Given the description of an element on the screen output the (x, y) to click on. 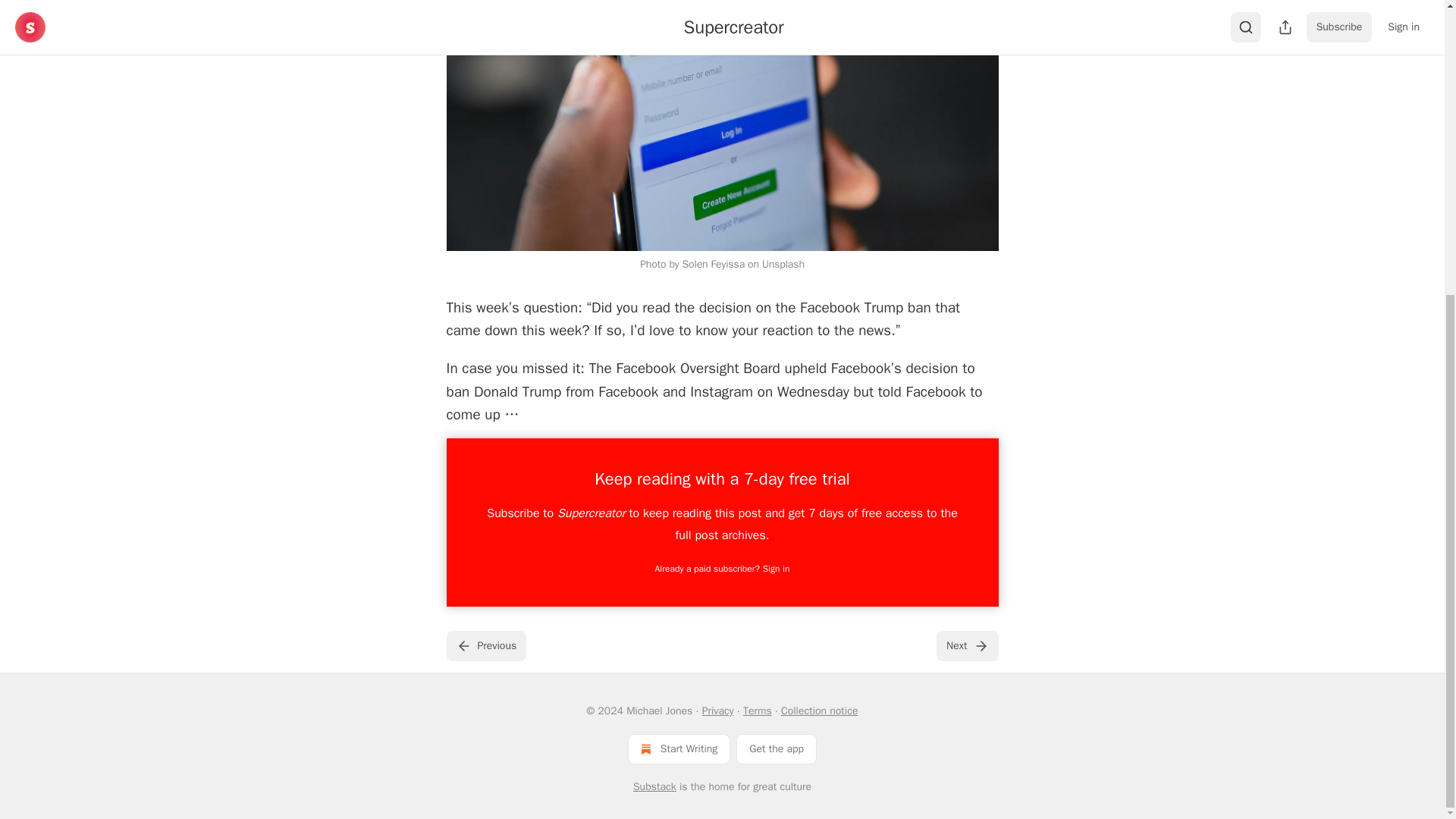
Substack (655, 786)
Already a paid subscriber? Sign in (722, 568)
Terms (756, 710)
Privacy (717, 710)
Get the app (776, 748)
Collection notice (818, 710)
Previous (485, 645)
Start Writing (678, 748)
Next (966, 645)
